Given the description of an element on the screen output the (x, y) to click on. 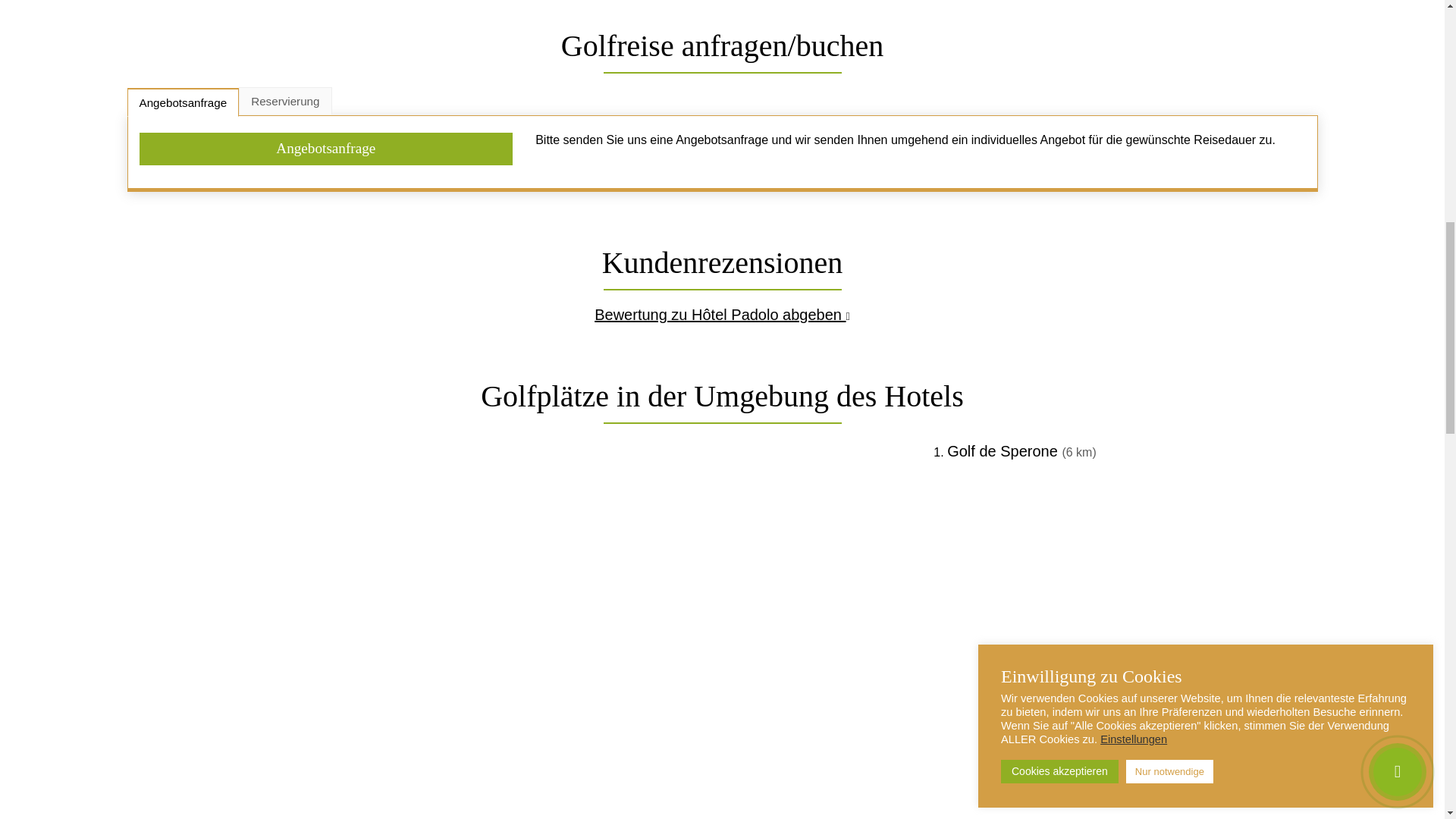
Angebotsanfrage (326, 148)
Angebotsanfrage (184, 102)
Reservierung (284, 100)
